Given the description of an element on the screen output the (x, y) to click on. 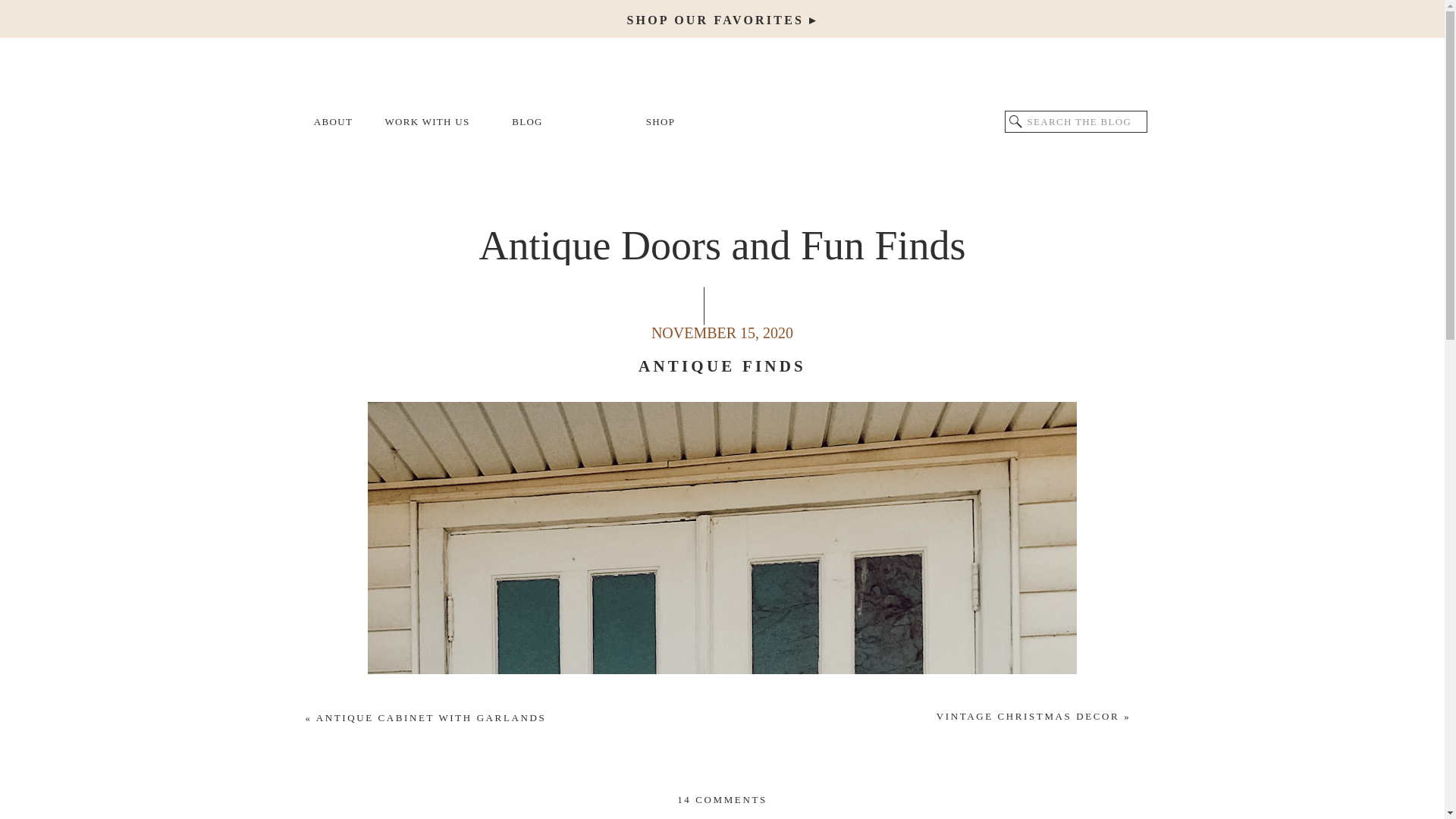
VINTAGE CHRISTMAS DECOR (1027, 715)
BLOG (528, 122)
WORK WITH US (426, 122)
SHOP (660, 122)
ANTIQUE CABINET WITH GARLANDS (430, 717)
ABOUT (333, 122)
ANTIQUE FINDS (722, 366)
